Given the description of an element on the screen output the (x, y) to click on. 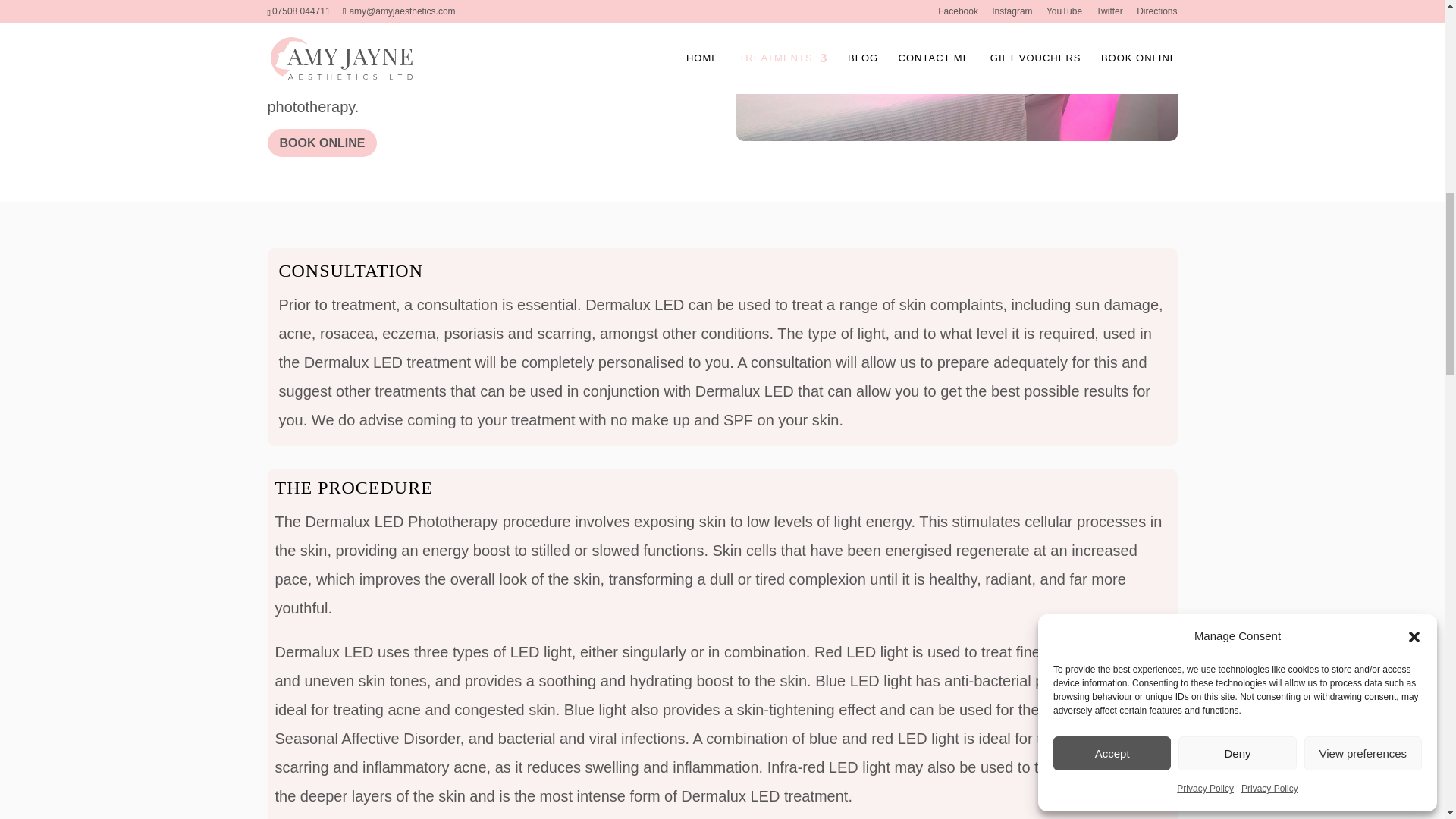
Dermalux LED Treatment Medway Kent (955, 70)
